Given the description of an element on the screen output the (x, y) to click on. 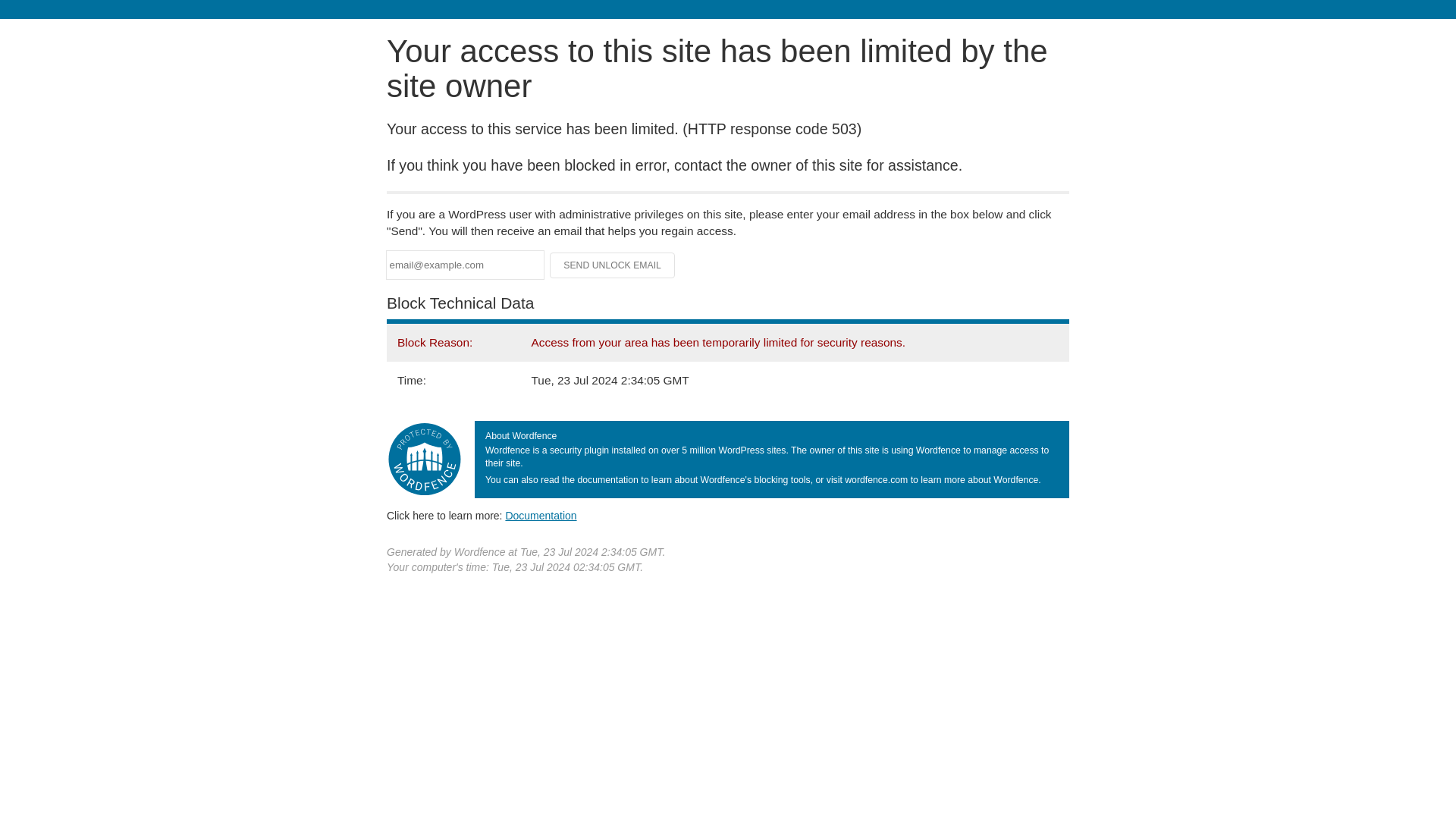
Documentation (540, 515)
Send Unlock Email (612, 265)
Send Unlock Email (612, 265)
